Given the description of an element on the screen output the (x, y) to click on. 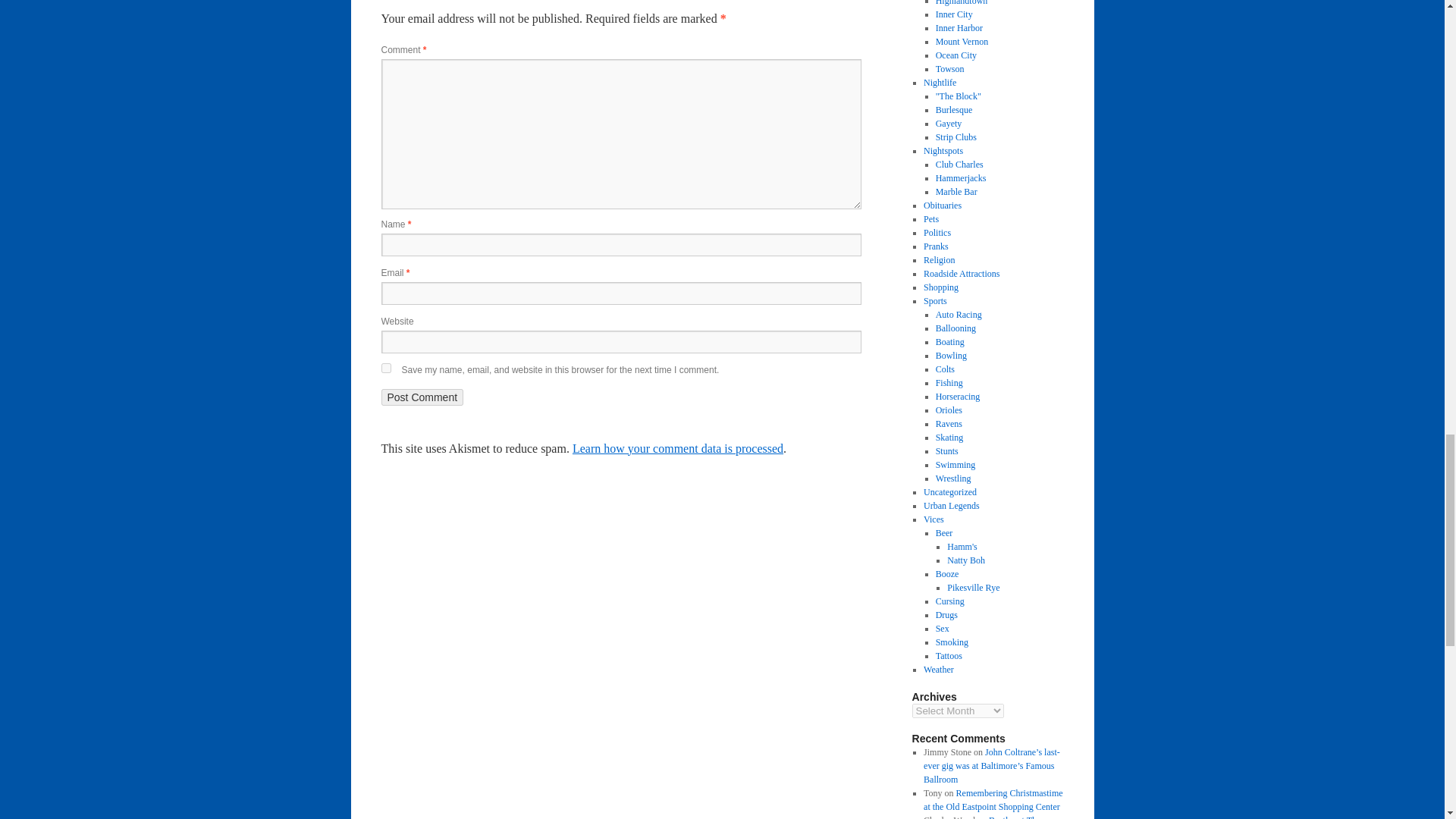
Learn how your comment data is processed (677, 448)
Post Comment (421, 397)
Post Comment (421, 397)
yes (385, 368)
